Given the description of an element on the screen output the (x, y) to click on. 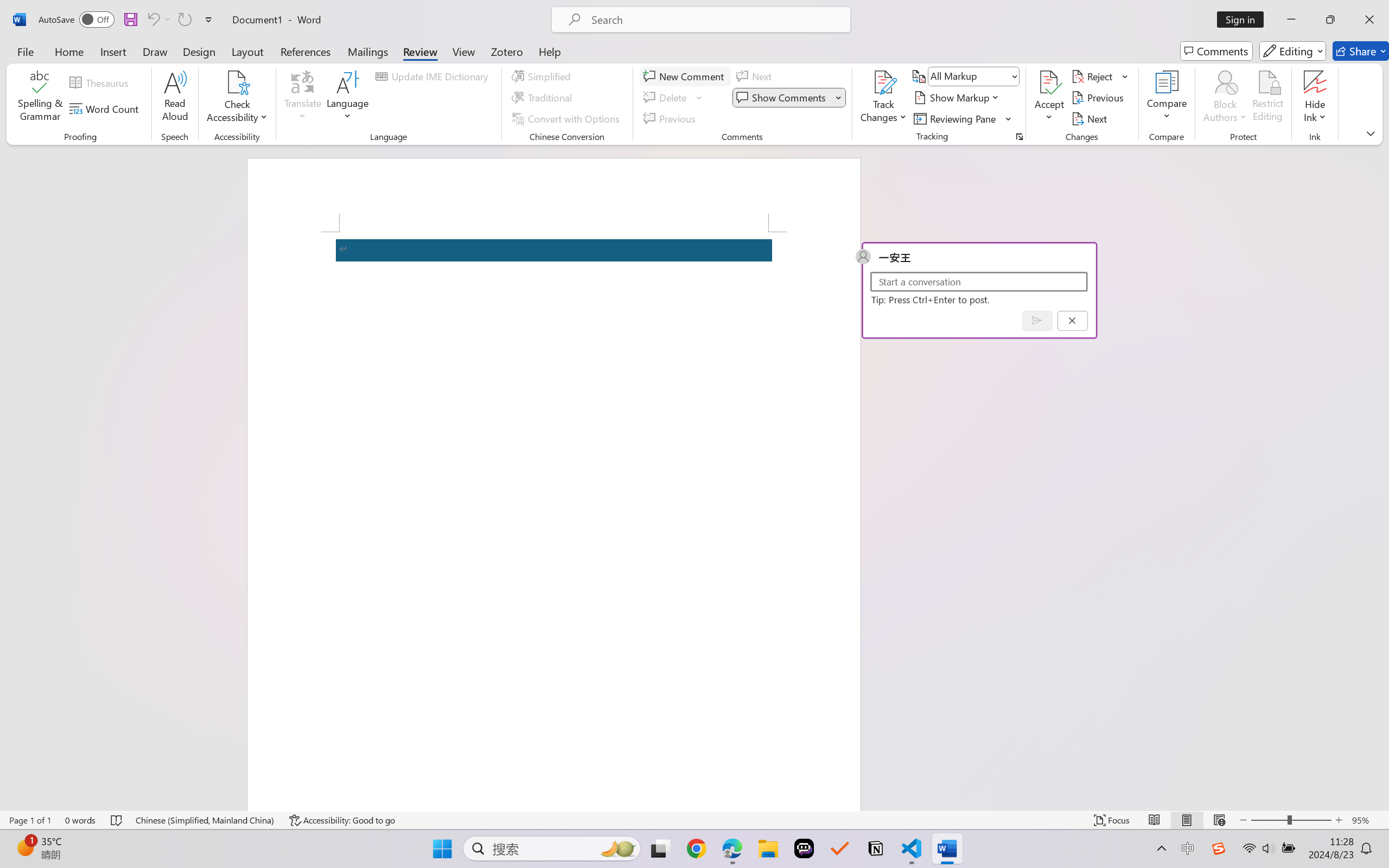
Language Chinese (Simplified, Mainland China) (205, 819)
Editing (1292, 50)
Display for Review (973, 75)
Reject (1100, 75)
Delete (673, 97)
Convert with Options... (567, 118)
Thesaurus... (101, 82)
Reviewing Pane (955, 118)
Track Changes (883, 97)
Simplified (542, 75)
